Given the description of an element on the screen output the (x, y) to click on. 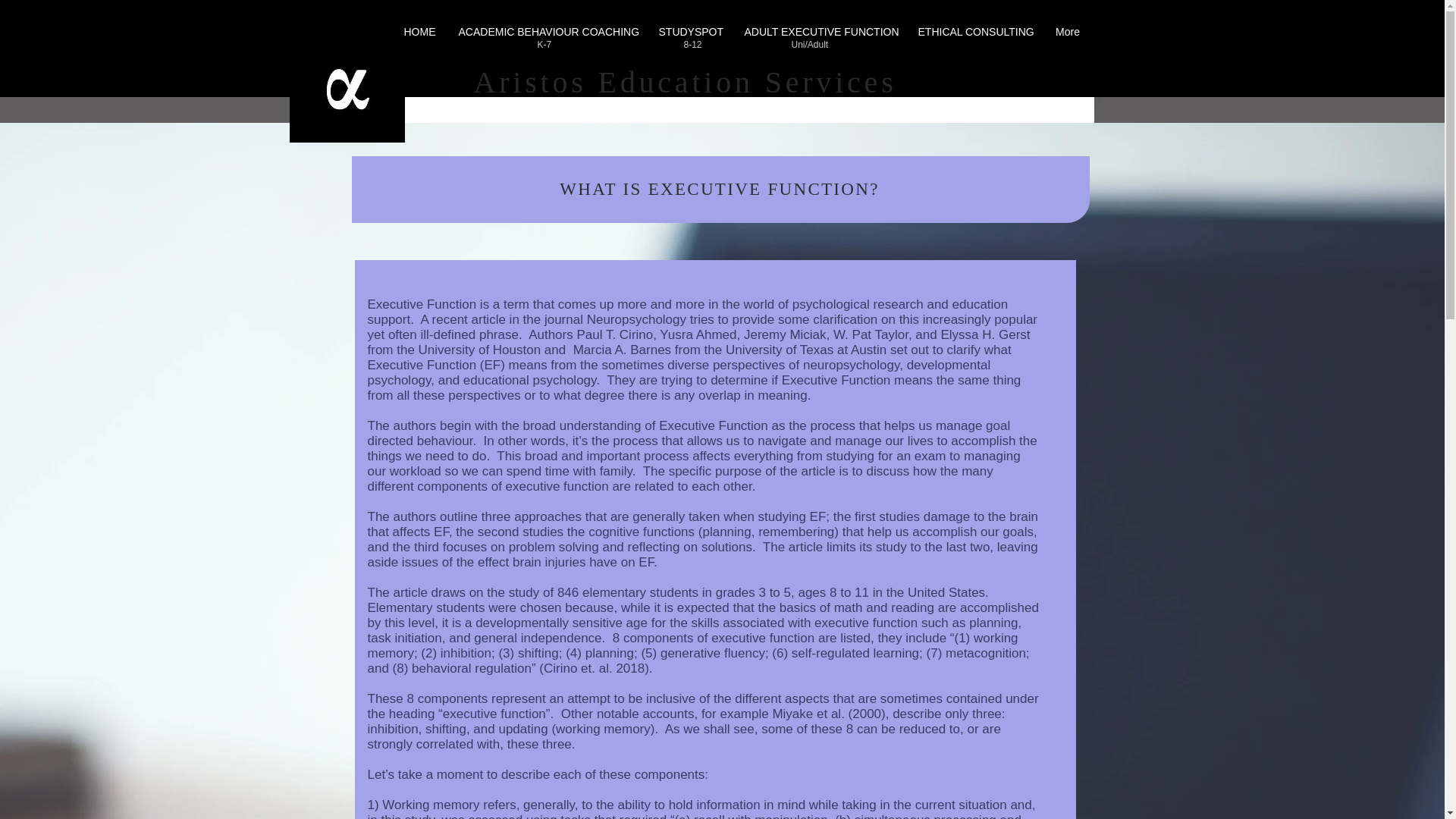
ACADEMIC BEHAVIOUR COACHING (546, 31)
STUDYSPOT (690, 31)
ETHICAL CONSULTING (975, 31)
ADULT EXECUTIVE FUNCTION (818, 31)
HOME (419, 31)
